Given the description of an element on the screen output the (x, y) to click on. 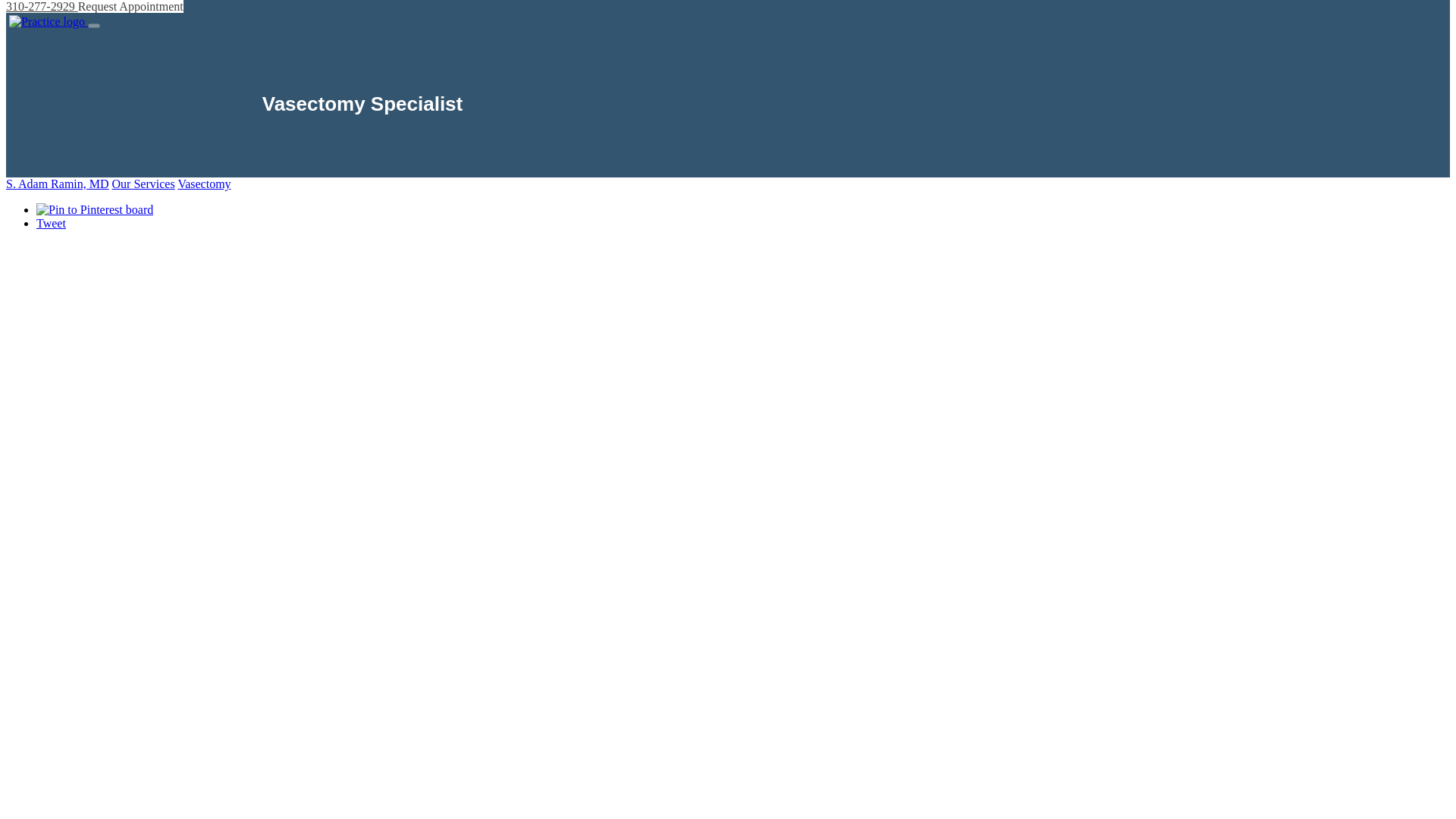
310-277-2929 (41, 6)
Request Appointment (130, 6)
